Given the description of an element on the screen output the (x, y) to click on. 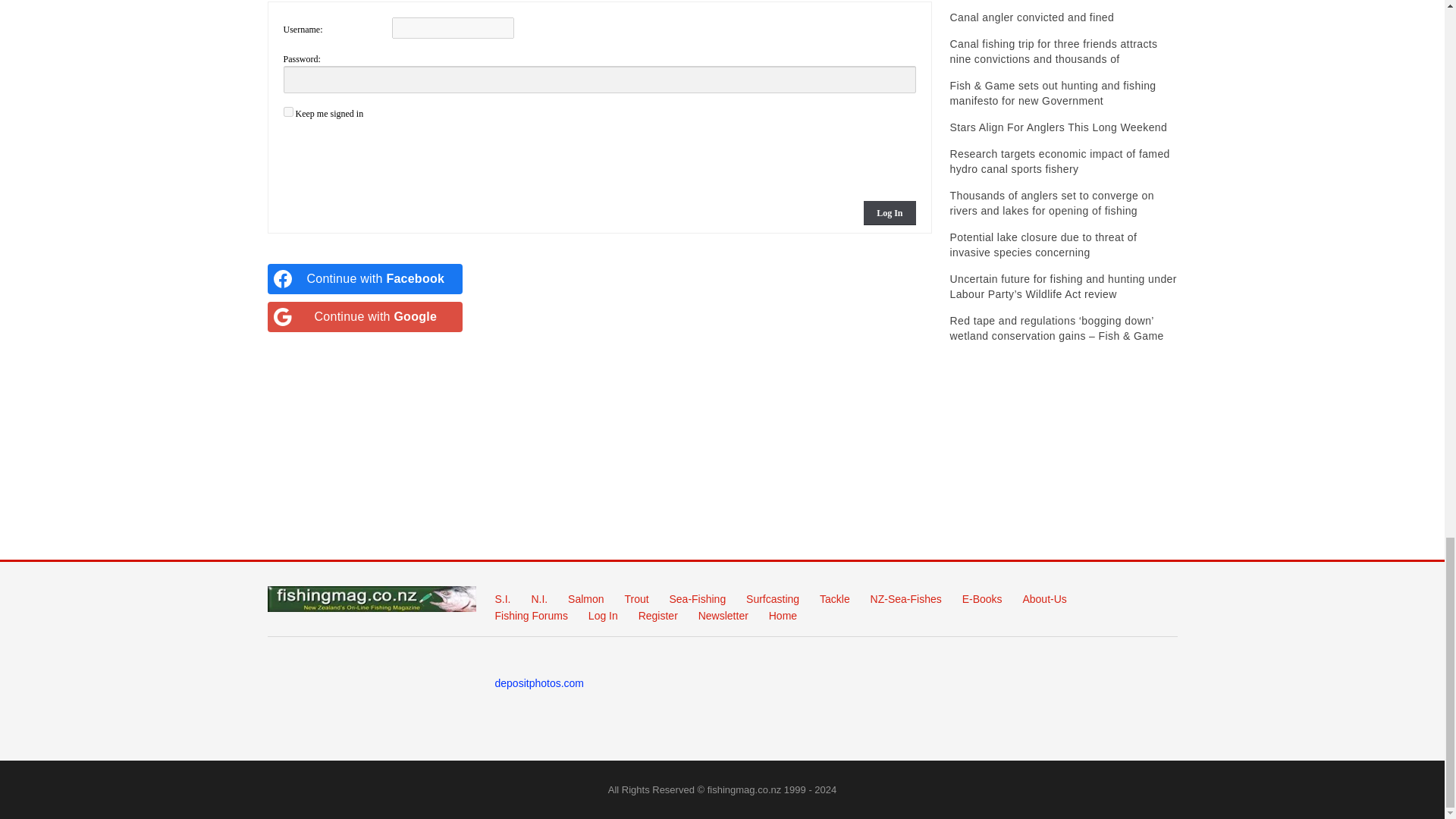
forever (288, 112)
Advertisement (725, 472)
reCAPTCHA (398, 158)
